Given the description of an element on the screen output the (x, y) to click on. 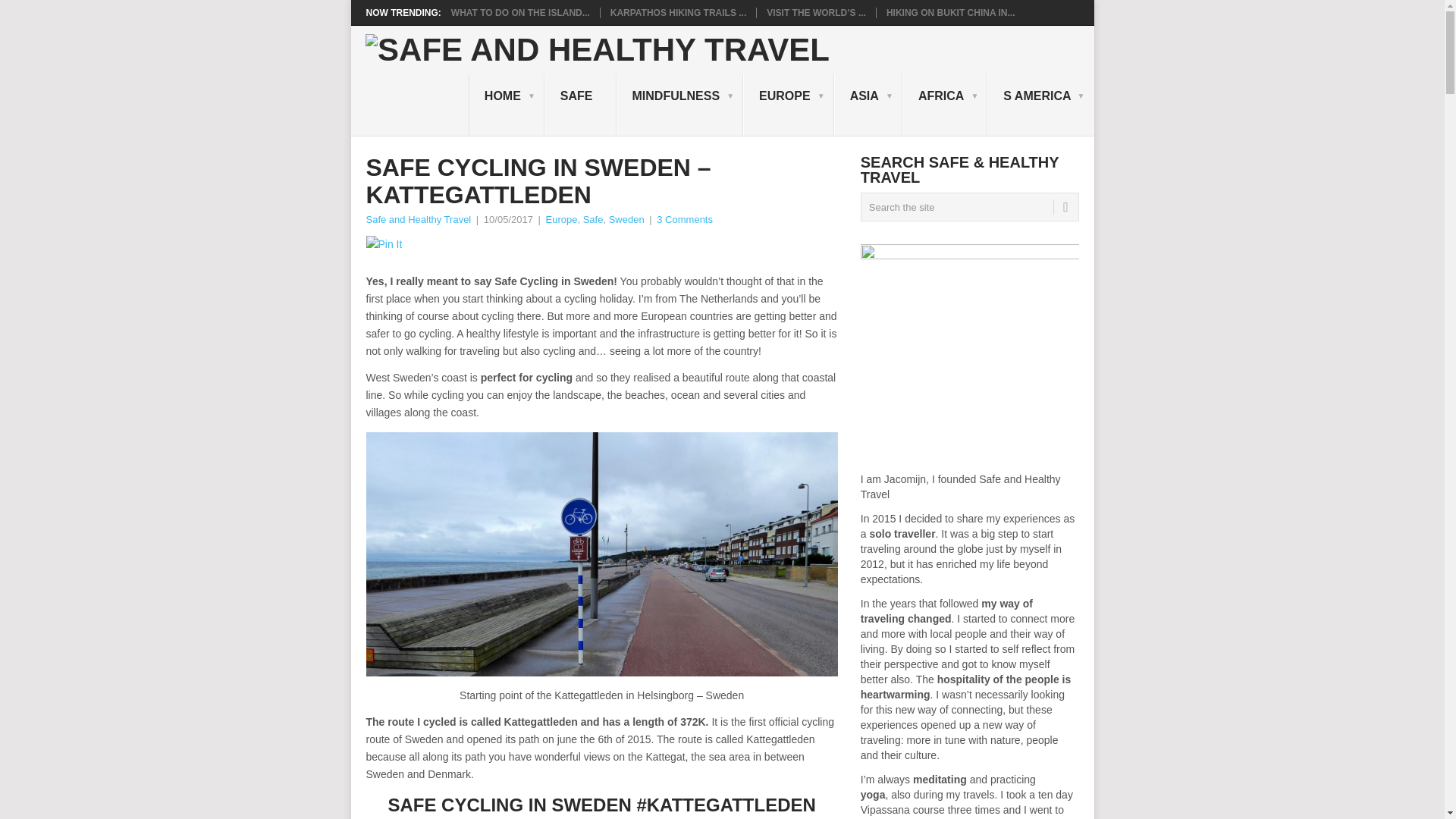
HOME (506, 105)
MINDFULNESS (678, 105)
Pin It (383, 244)
KARPATHOS HIKING TRAILS ... (678, 12)
WHAT TO DO ON THE ISLAND... (520, 12)
HIKING ON BUKIT CHINA IN... (950, 12)
Safe Cycling in Sweden (601, 554)
EUROPE (788, 105)
Search the site (969, 206)
Posts by Safe and Healthy Travel (417, 219)
